Given the description of an element on the screen output the (x, y) to click on. 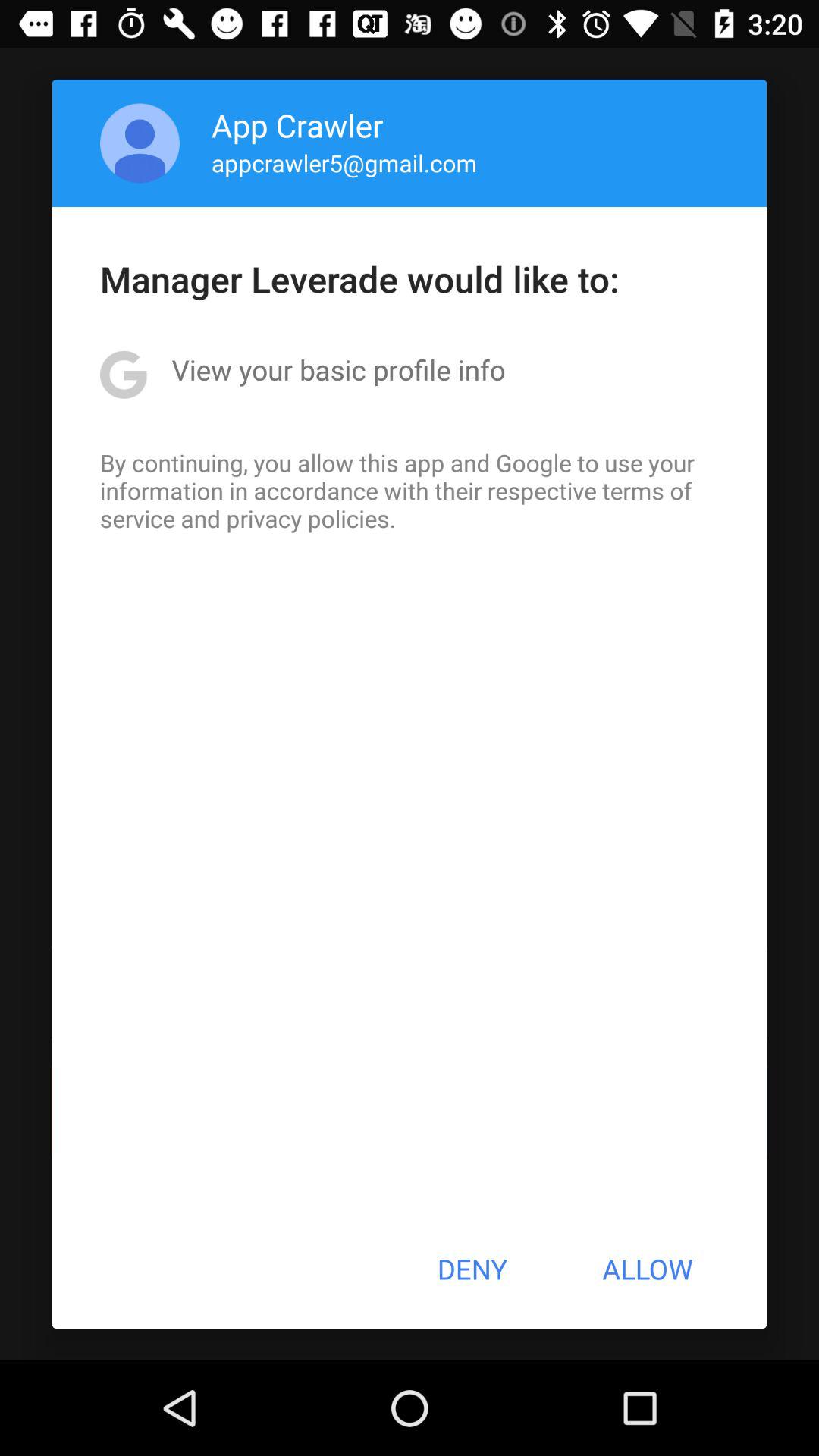
flip until appcrawler5@gmail.com item (344, 162)
